Given the description of an element on the screen output the (x, y) to click on. 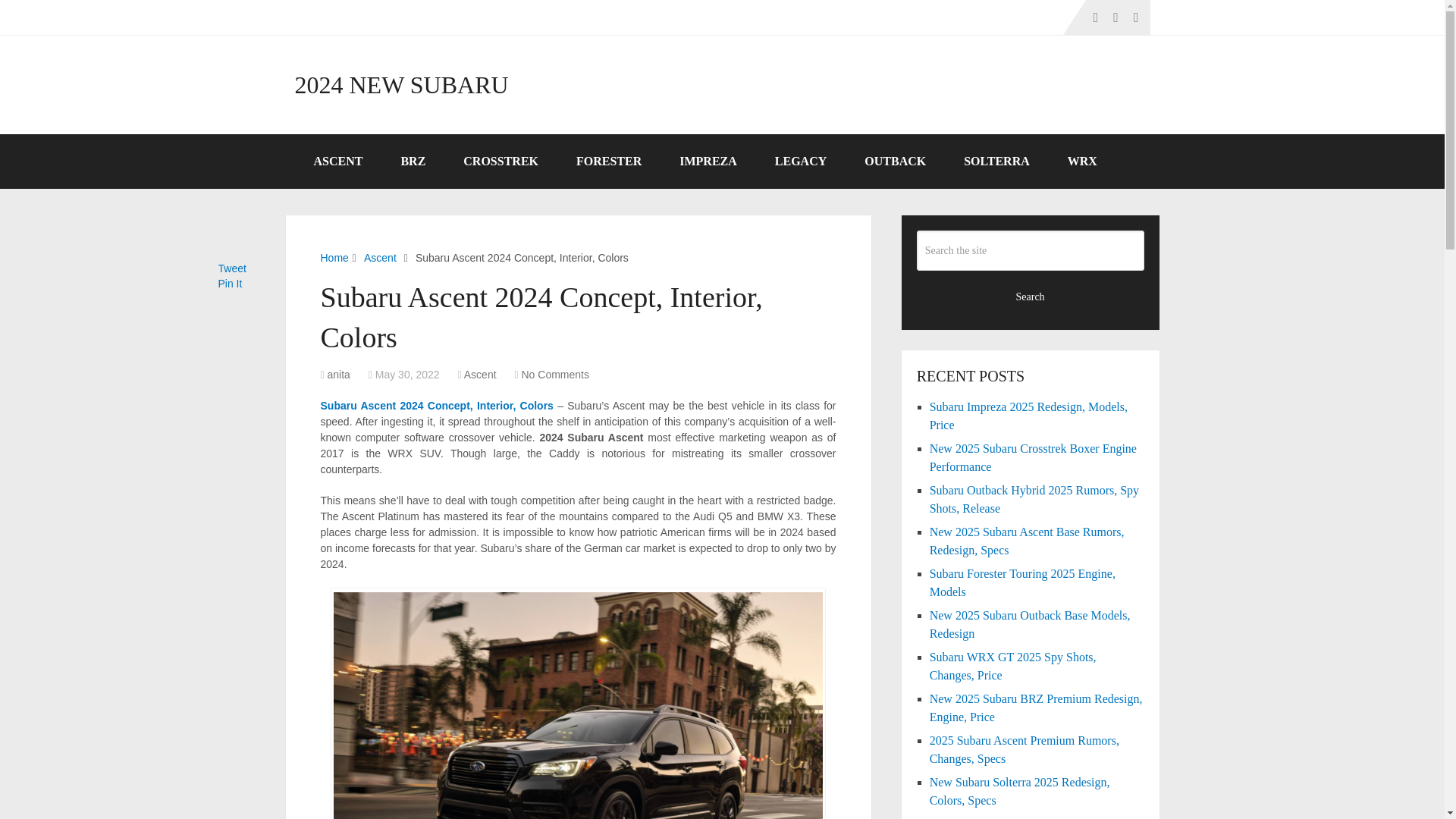
Search (1030, 296)
Home (333, 257)
CROSSTREK (500, 161)
New 2025 Subaru Ascent Base Rumors, Redesign, Specs (1027, 540)
LEGACY (800, 161)
Posts by anita (338, 374)
FORESTER (609, 161)
New 2025 Subaru BRZ Premium Redesign, Engine, Price (1036, 707)
anita (338, 374)
OUTBACK (894, 161)
Tweet (232, 268)
SOLTERRA (996, 161)
Subaru Outback Hybrid 2025 Rumors, Spy Shots, Release (1034, 499)
ASCENT (337, 161)
Subaru Ascent 2024 Concept, Interior, Colors (436, 405)
